Given the description of an element on the screen output the (x, y) to click on. 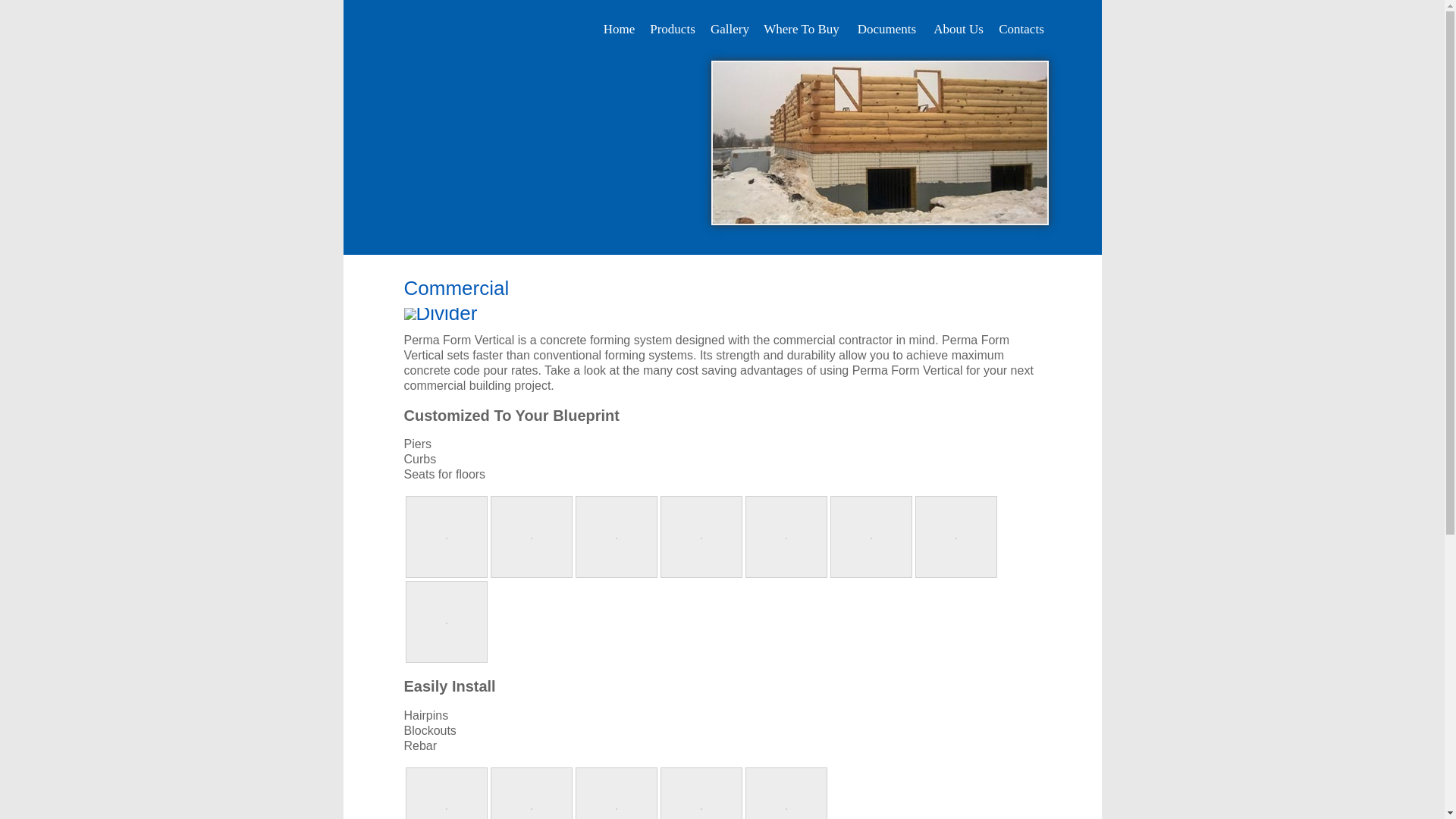
2 (869, 244)
4 (909, 244)
3 (889, 244)
1 (850, 244)
